Given the description of an element on the screen output the (x, y) to click on. 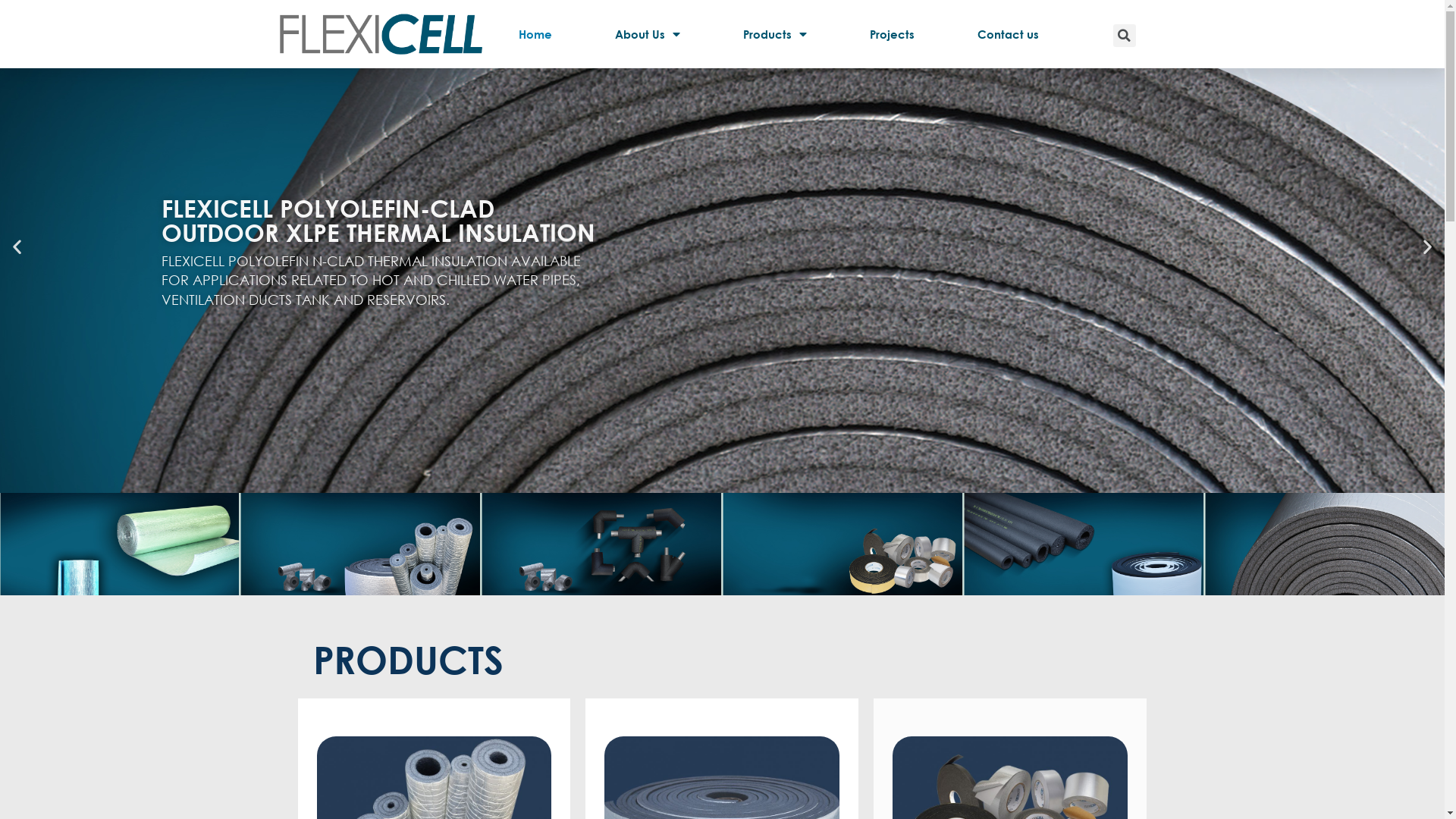
Projects Element type: text (891, 33)
Home Element type: text (534, 33)
About Us Element type: text (646, 33)
Products Element type: text (774, 33)
Contact us Element type: text (1007, 33)
